Given the description of an element on the screen output the (x, y) to click on. 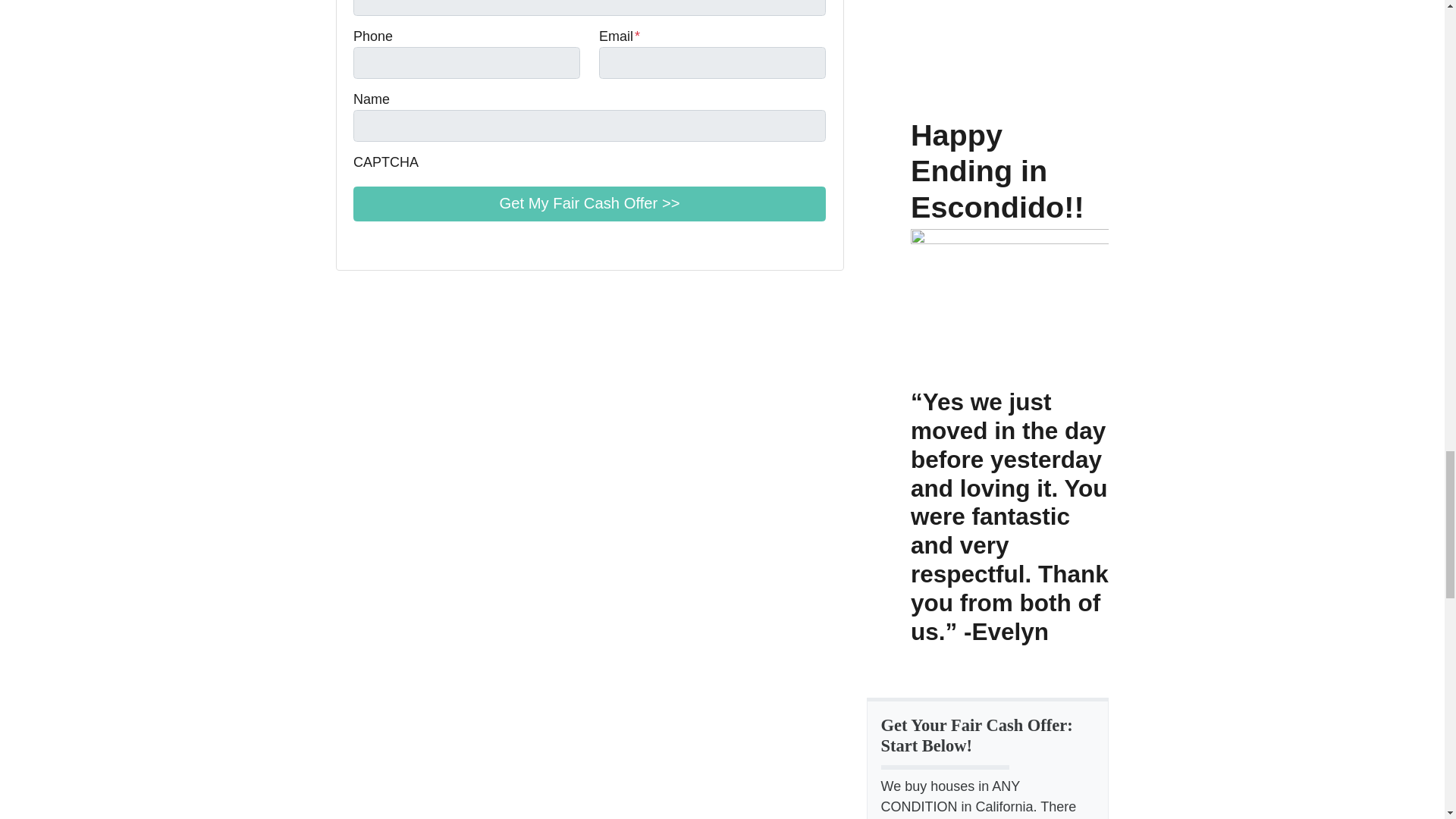
LinkedIn (404, 244)
YouTube (383, 244)
Facebook (362, 244)
